Given the description of an element on the screen output the (x, y) to click on. 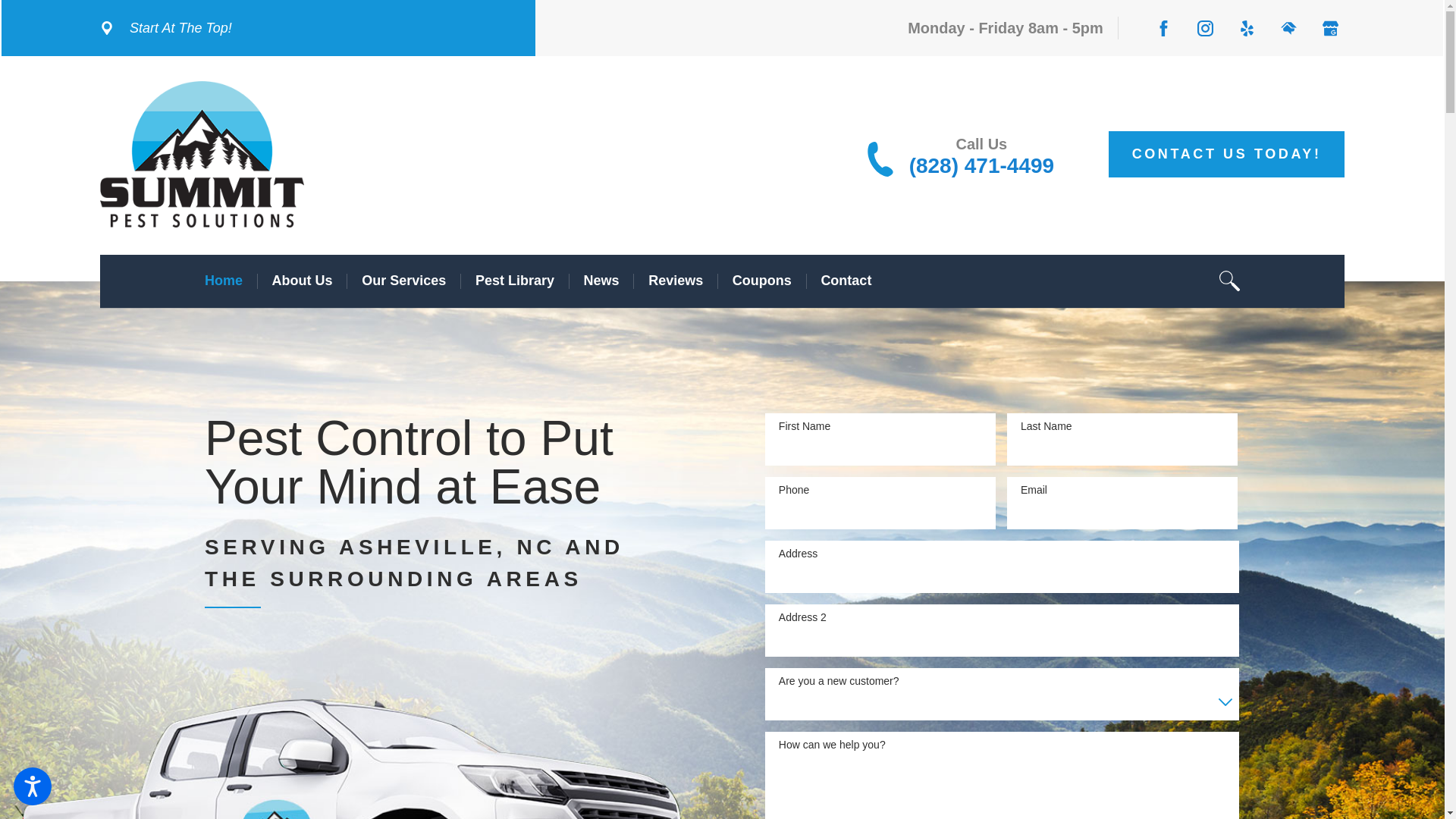
Yelp (1246, 28)
Contact (845, 281)
Pest Library (515, 281)
Instagram (1204, 28)
Coupons (762, 281)
Home (224, 281)
Facebook (1162, 28)
News (601, 281)
Open the accessibility options menu (31, 786)
Search Our Site (1230, 281)
Summit Pest Solutions (202, 154)
Our Services (403, 281)
Reviews (675, 281)
CONTACT US TODAY! (1226, 154)
About Us (302, 281)
